Given the description of an element on the screen output the (x, y) to click on. 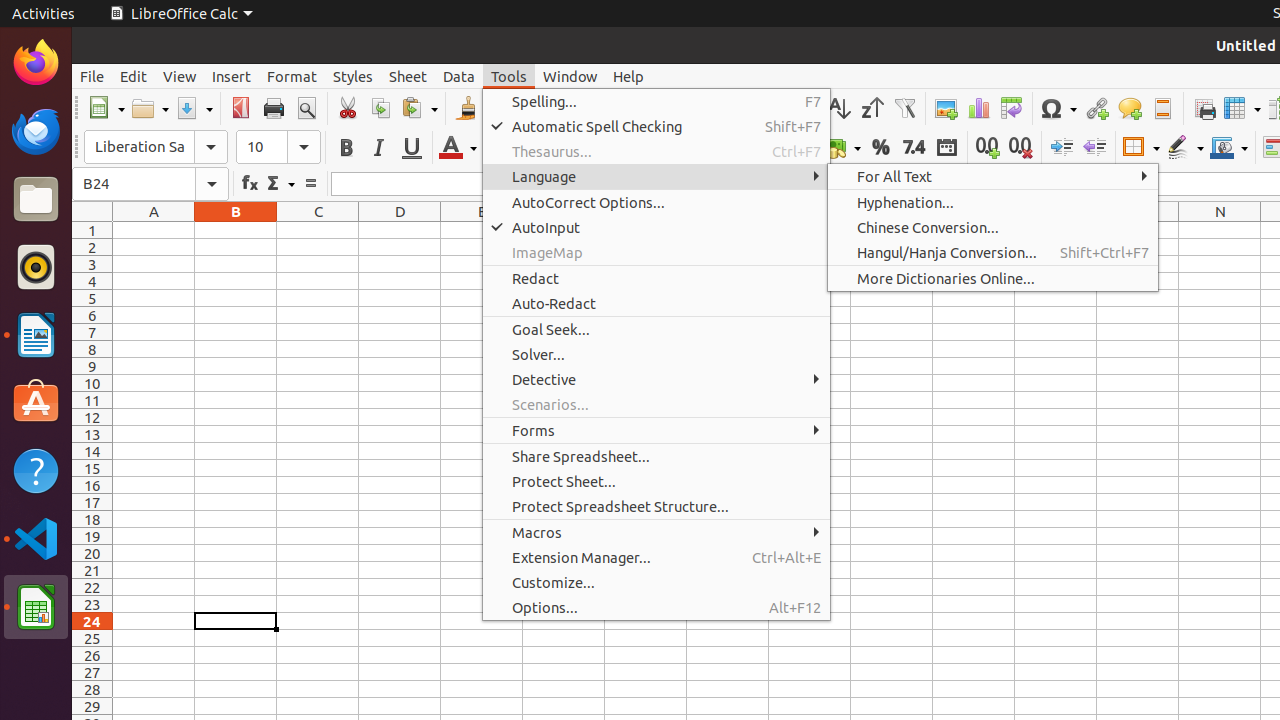
Customize... Element type: menu-item (656, 582)
Spelling... Element type: menu-item (656, 101)
Extension Manager... Element type: menu-item (656, 557)
Protect Spreadsheet Structure... Element type: check-menu-item (656, 506)
